Given the description of an element on the screen output the (x, y) to click on. 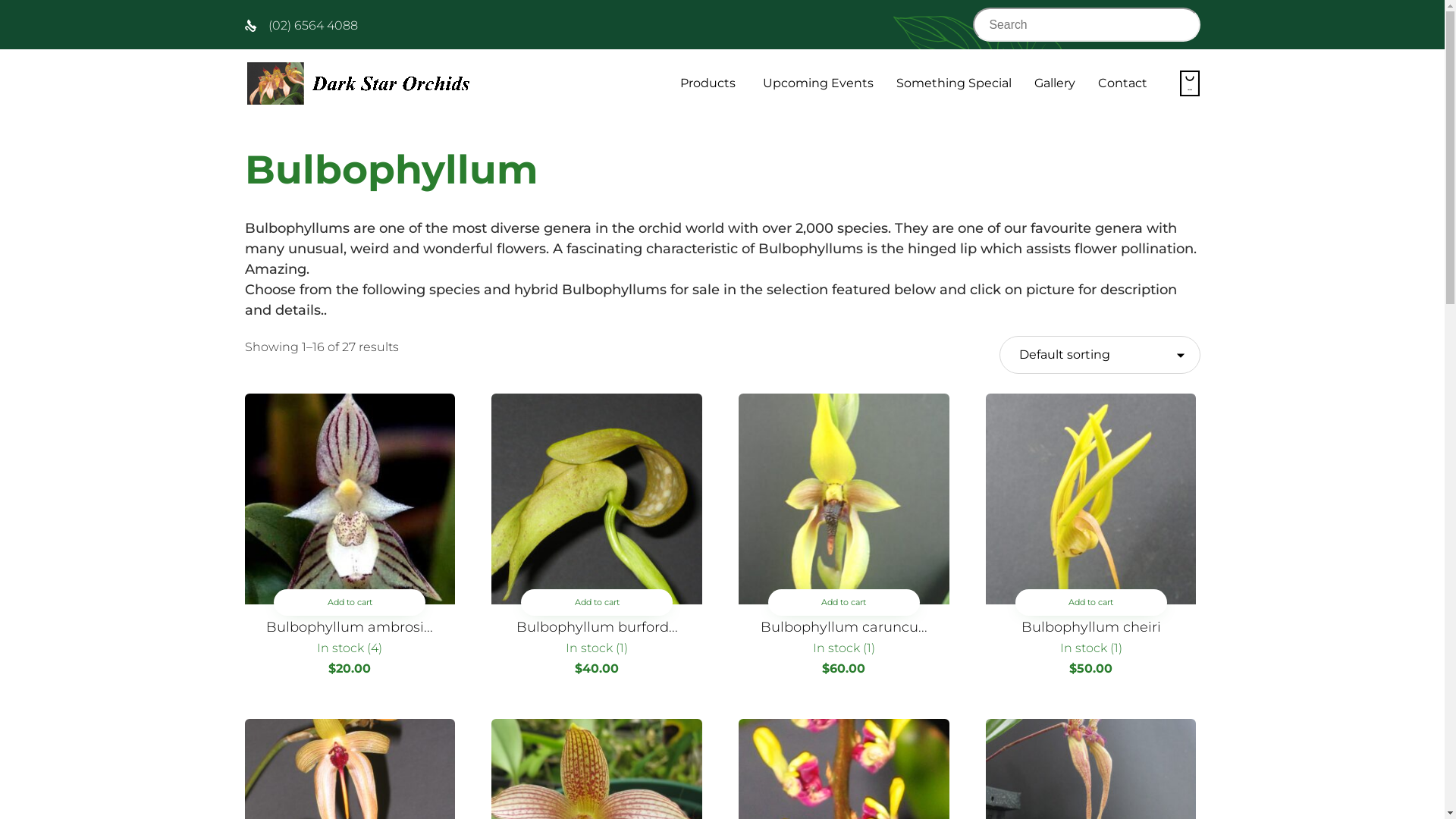
Contact Element type: text (1121, 83)
Bulbophyllum ambrosi...
In stock (4) Element type: text (349, 638)
Search Element type: text (1176, 24)
Dark Star Orchids Element type: hover (357, 83)
Bulbophyllum burford...
In stock (1) Element type: text (596, 638)
(02) 6564 4088 Element type: text (312, 26)
Something Special Element type: text (953, 83)
Bulbophyllum caruncu...
In stock (1) Element type: text (843, 638)
Add to cart Element type: text (349, 601)
Products Element type: text (709, 83)
Add to cart Element type: text (1090, 601)
Bulbophyllum cheiri
In stock (1) Element type: text (1090, 638)
Skip to content Element type: text (1157, 63)
Upcoming Events Element type: text (817, 83)
Gallery Element type: text (1053, 83)
Add to cart Element type: text (843, 601)
Add to cart Element type: text (596, 601)
